Given the description of an element on the screen output the (x, y) to click on. 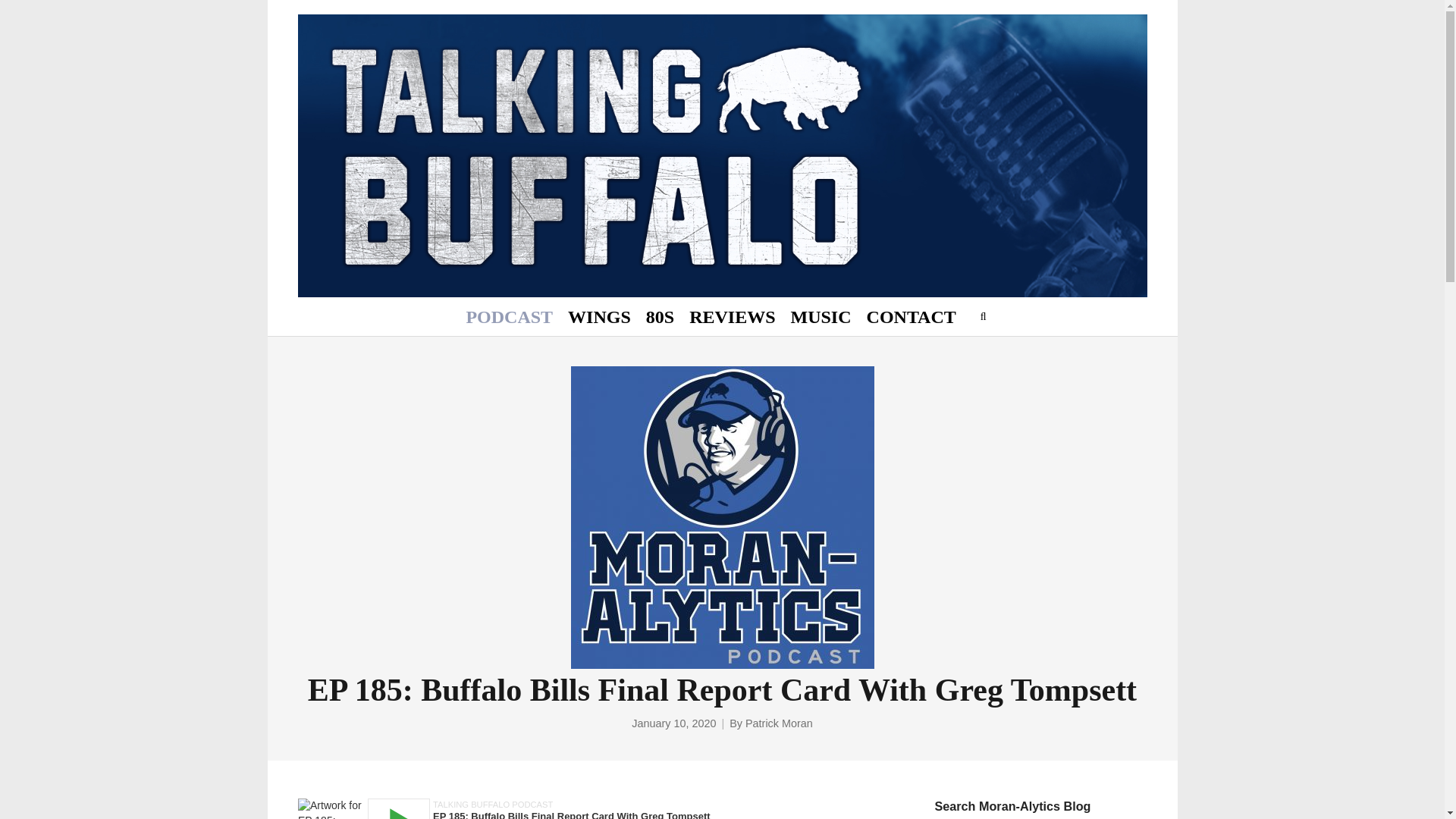
PODCAST (509, 316)
CONTACT (911, 316)
Patrick Moran (778, 723)
80S (660, 316)
REVIEWS (732, 316)
MUSIC (821, 316)
WINGS (599, 316)
